Given the description of an element on the screen output the (x, y) to click on. 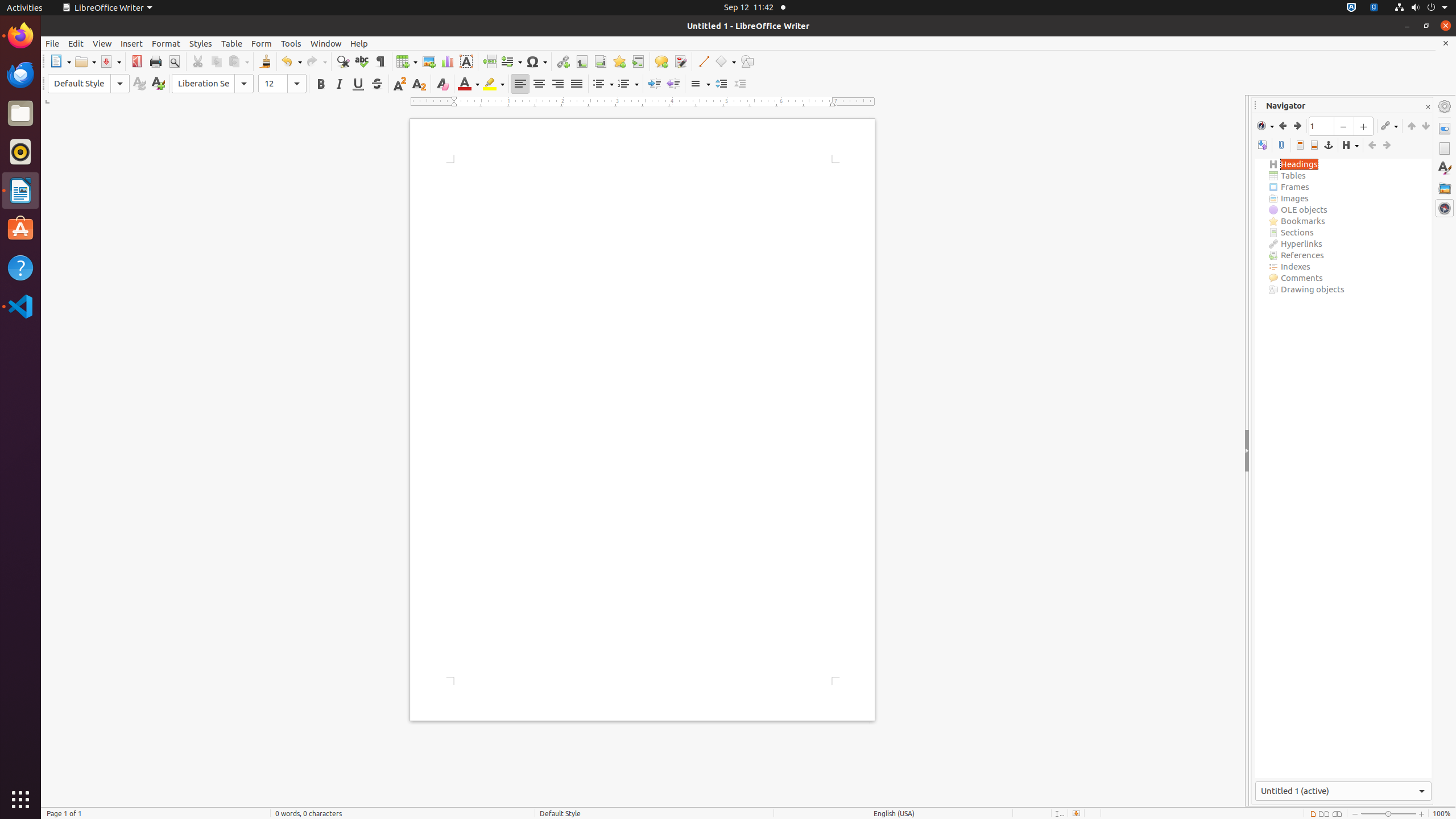
Hyperlink Element type: toggle-button (562, 61)
LibreOffice Writer Element type: push-button (20, 190)
Update Element type: push-button (138, 83)
PDF Element type: push-button (136, 61)
Styles Element type: radio-button (1444, 168)
